Given the description of an element on the screen output the (x, y) to click on. 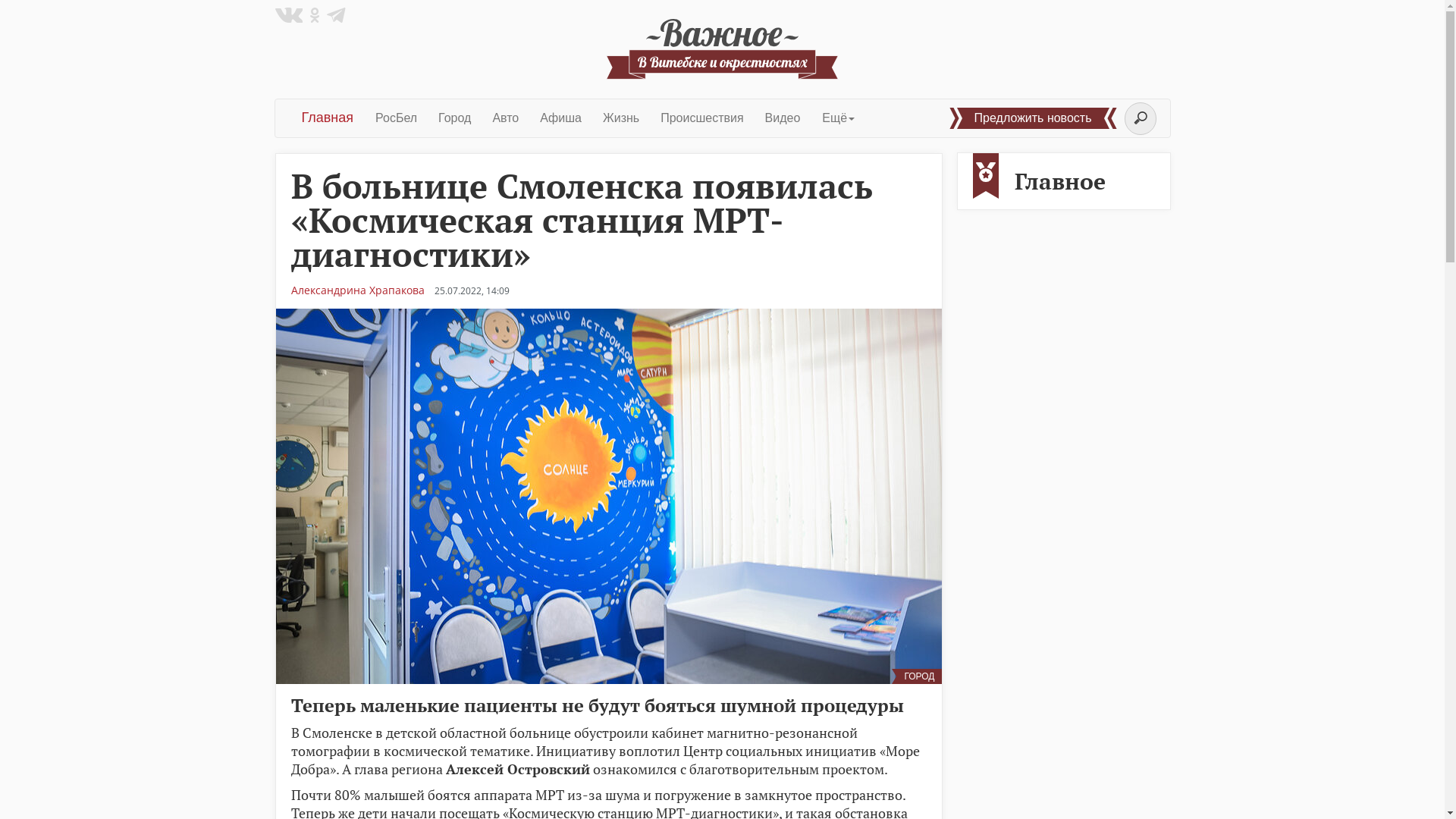
  Element type: text (721, 48)
